Given the description of an element on the screen output the (x, y) to click on. 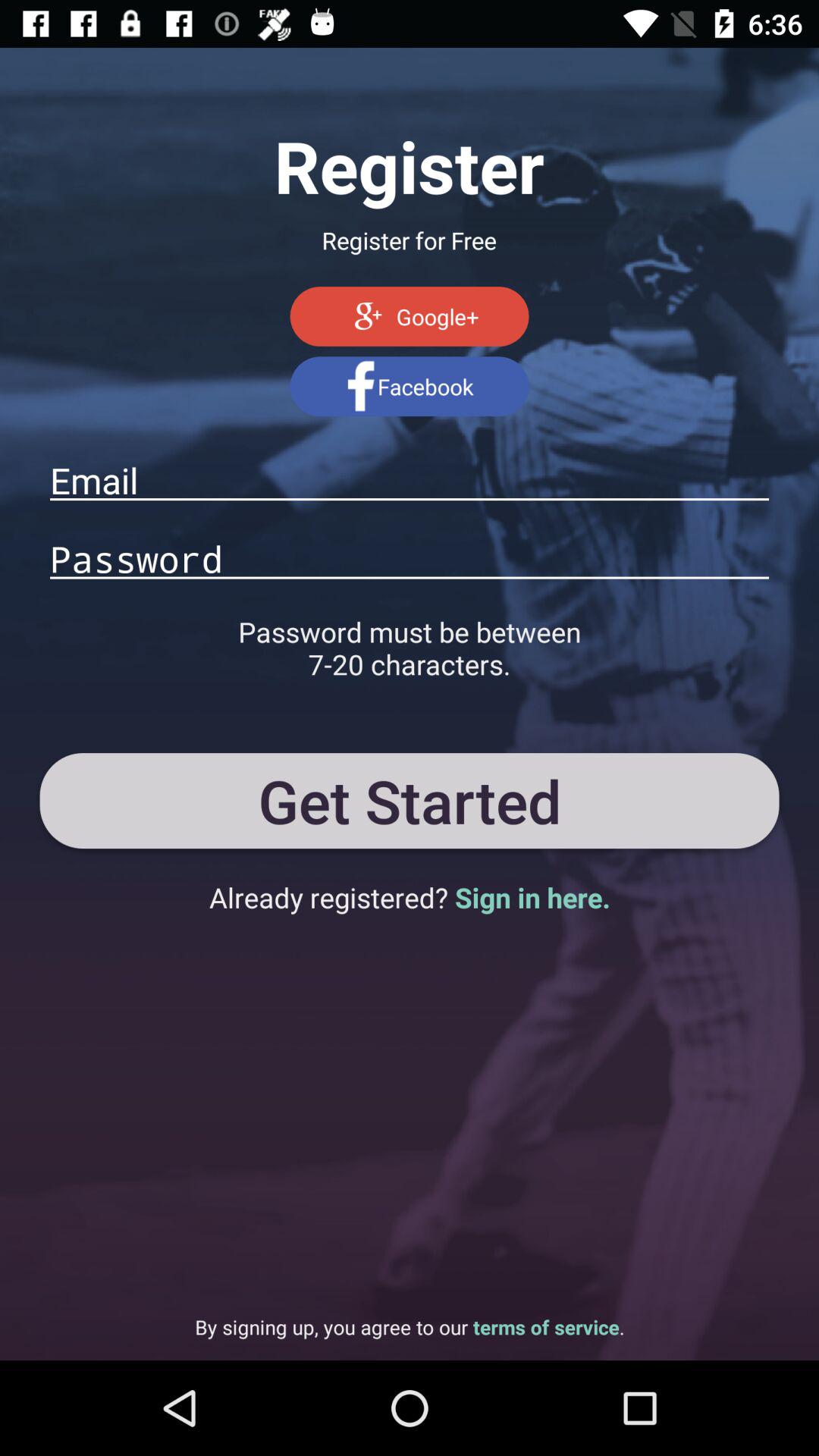
choose by signing up item (409, 1326)
